Given the description of an element on the screen output the (x, y) to click on. 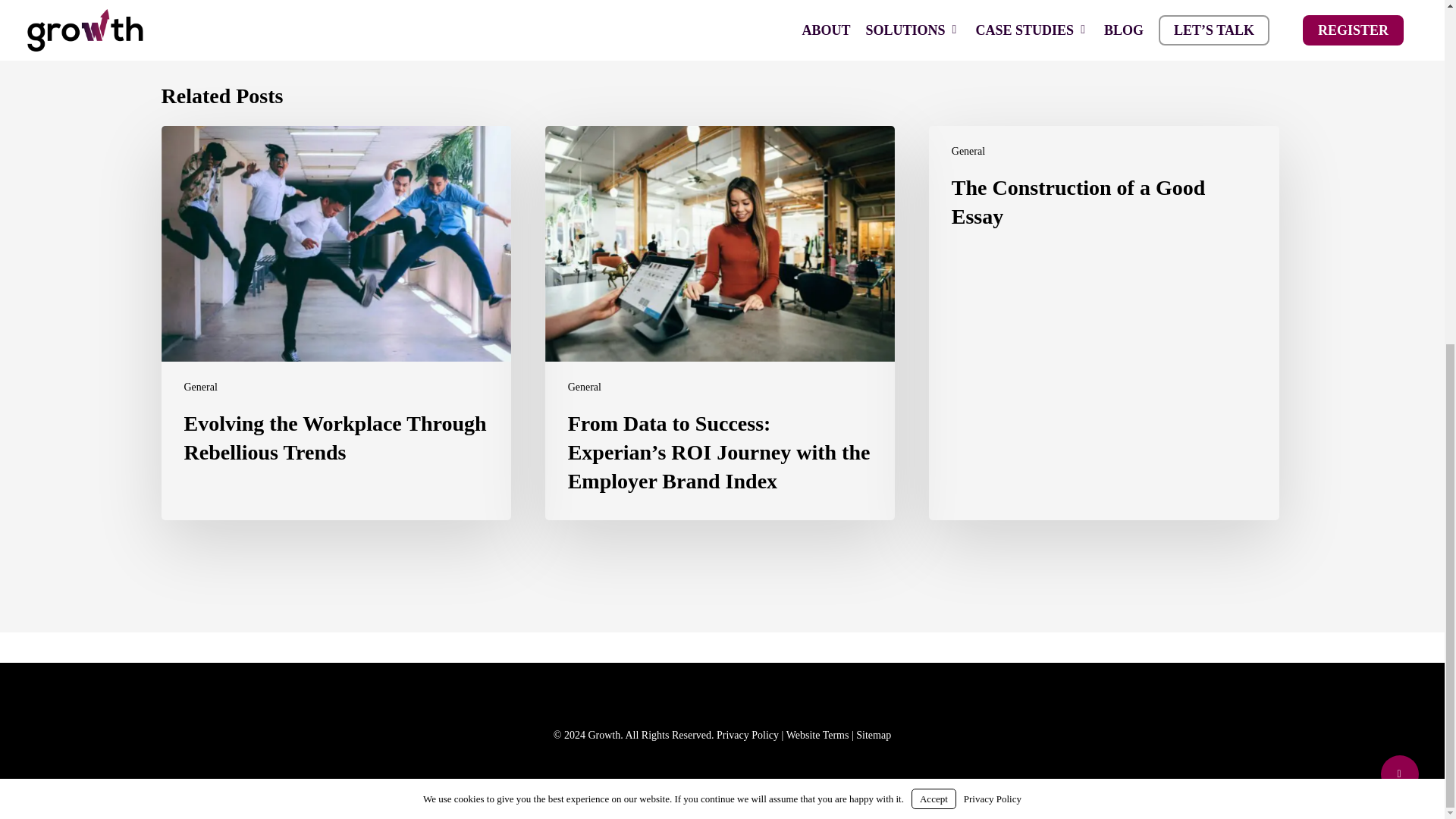
General (199, 386)
Privacy Policy (747, 735)
General (968, 151)
General (584, 386)
